Given the description of an element on the screen output the (x, y) to click on. 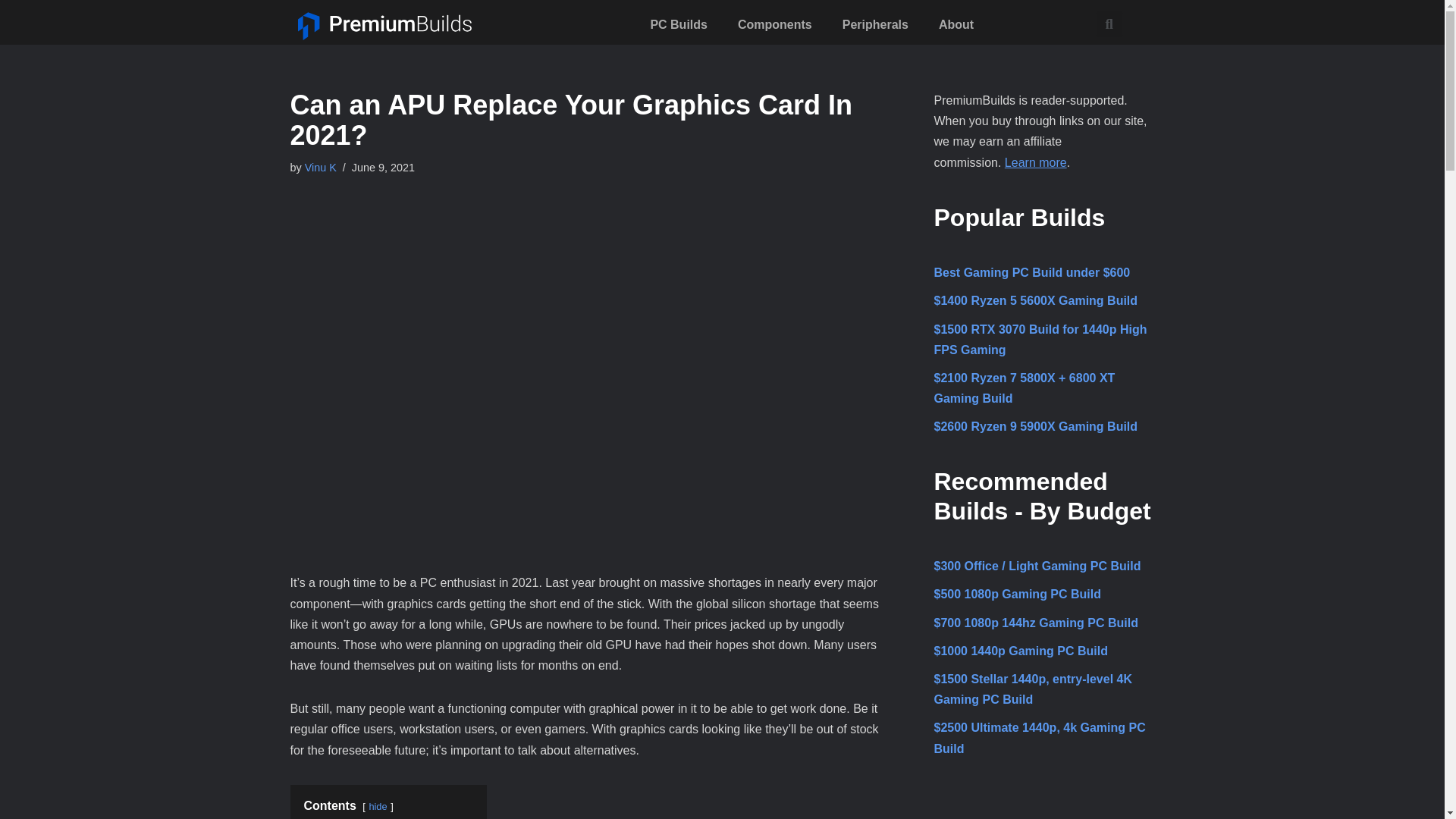
About (955, 25)
PC Builds (678, 25)
Components (774, 25)
Peripherals (875, 25)
Skip to content (11, 31)
Posts by Vinu K (320, 167)
premiumbuilds new logo svg (384, 25)
